Given the description of an element on the screen output the (x, y) to click on. 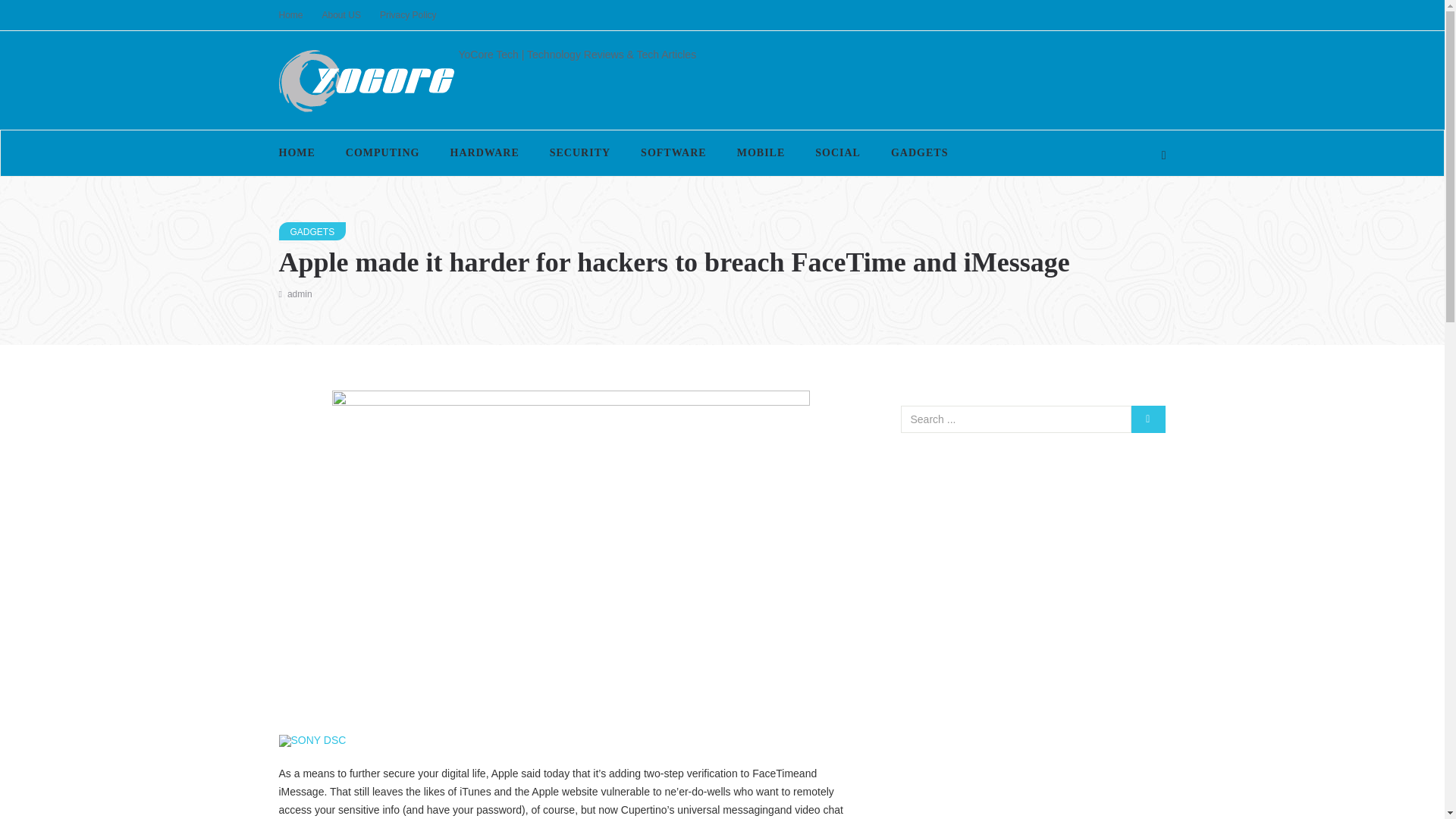
HOME (304, 153)
MOBILE (761, 153)
SOFTWARE (674, 153)
COMPUTING (382, 153)
SECURITY (580, 153)
About US (350, 15)
GADGETS (312, 230)
Privacy Policy (417, 15)
Home (300, 15)
HARDWARE (484, 153)
admin (299, 294)
SOCIAL (837, 153)
GADGETS (919, 153)
